Given the description of an element on the screen output the (x, y) to click on. 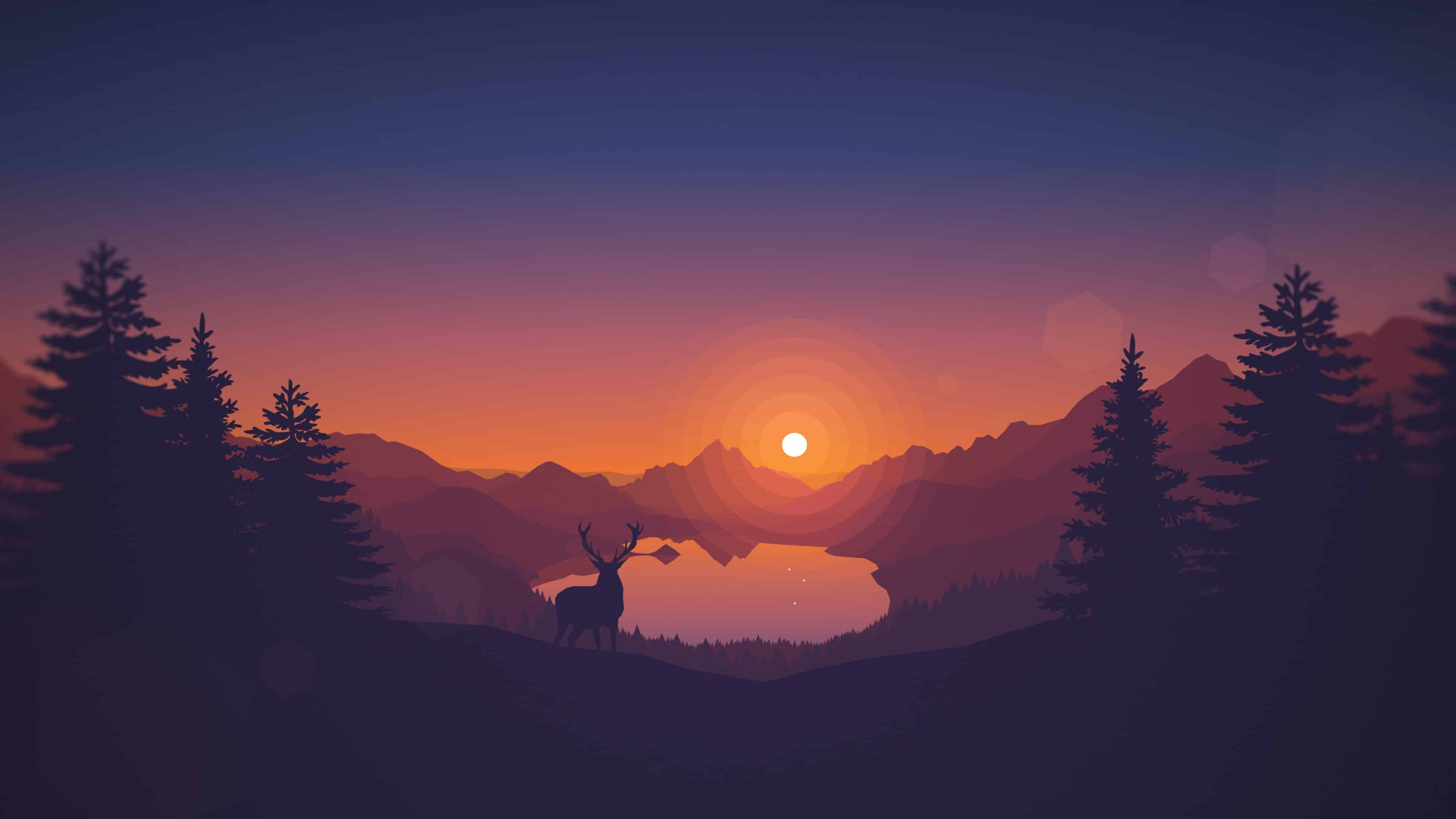
Cr-Design Logo Element type: hover (378, 14)
